Given the description of an element on the screen output the (x, y) to click on. 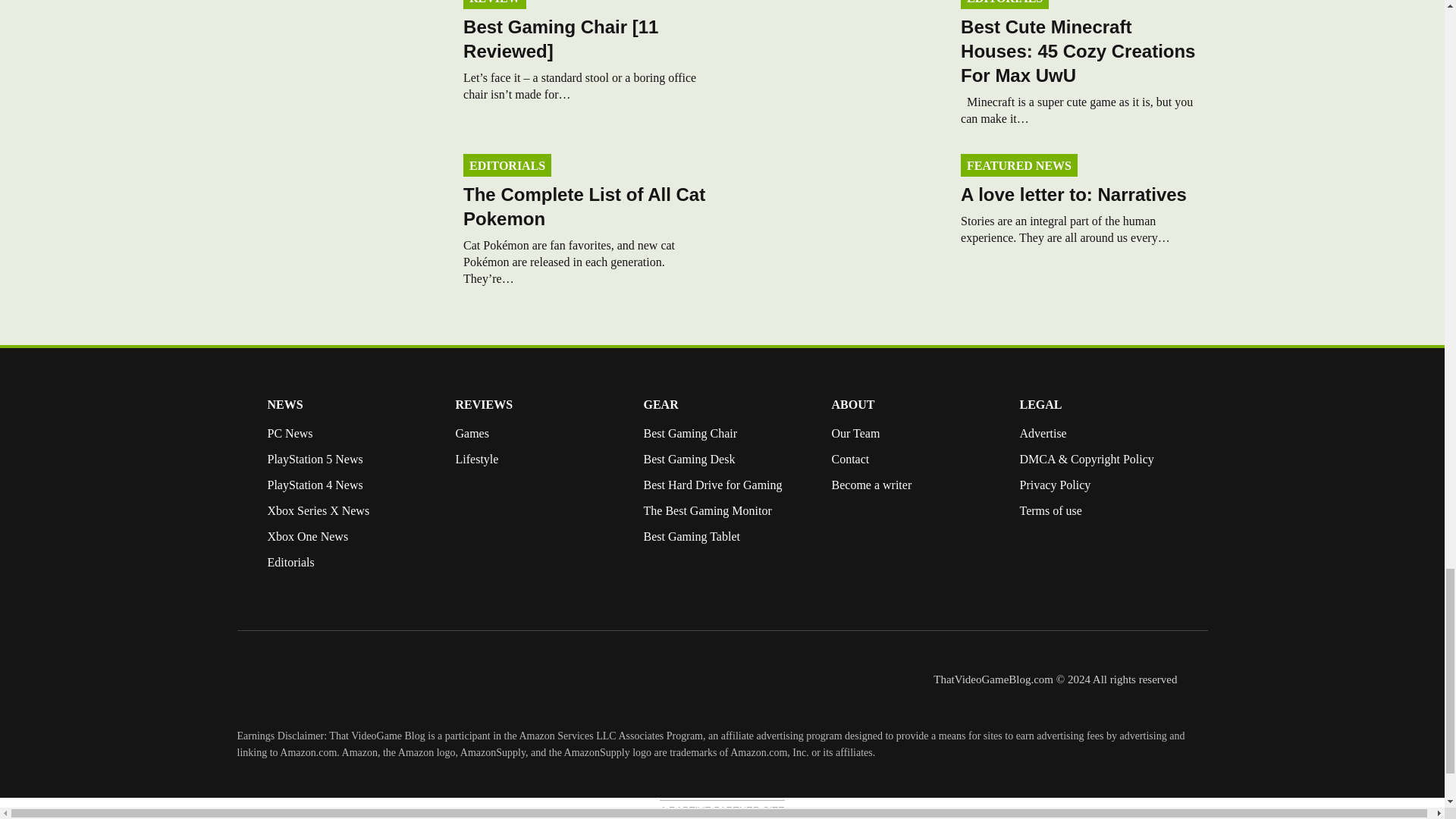
DMCA.com Protection Program (1049, 572)
